Given the description of an element on the screen output the (x, y) to click on. 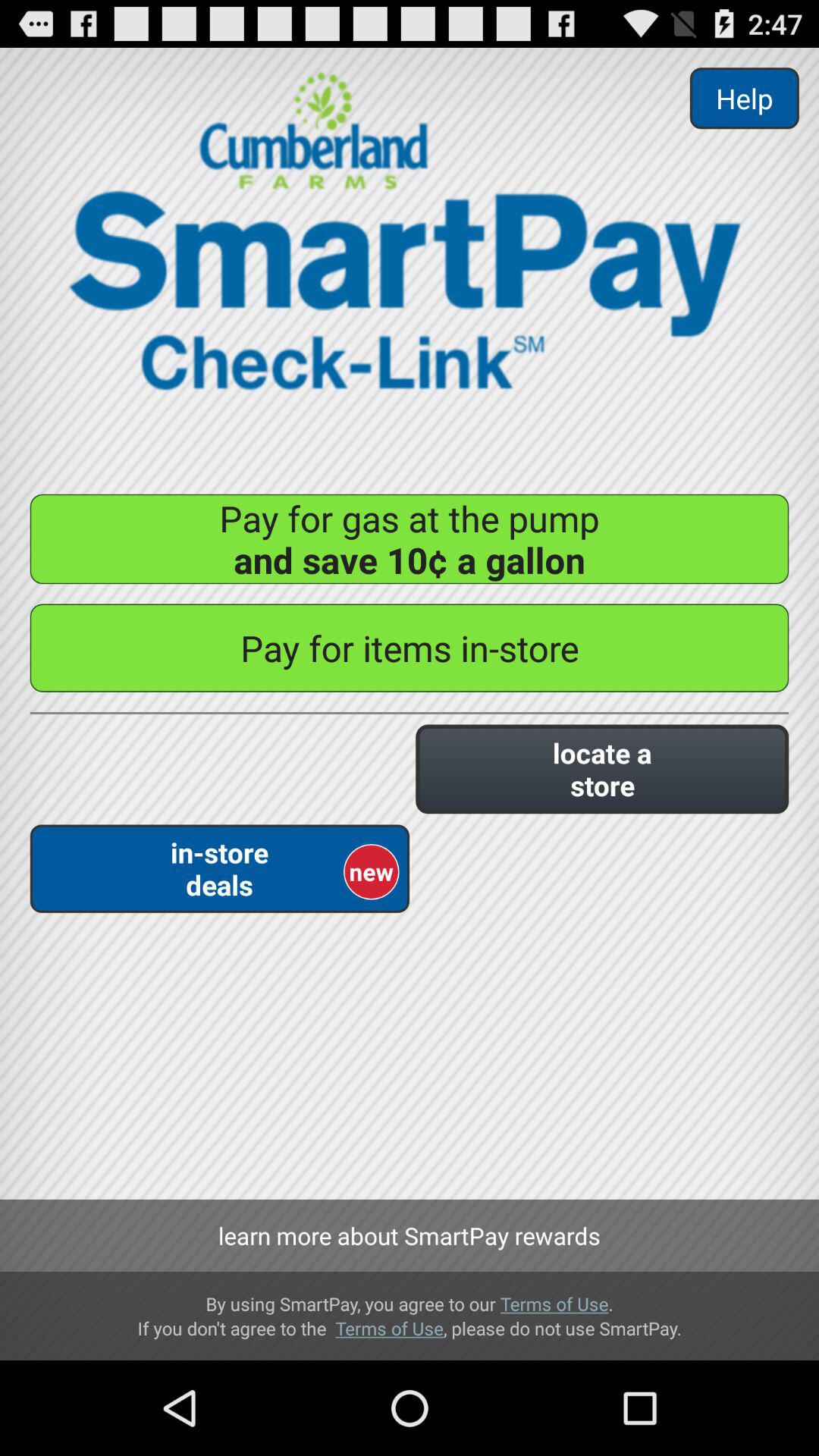
launch help item (744, 98)
